Given the description of an element on the screen output the (x, y) to click on. 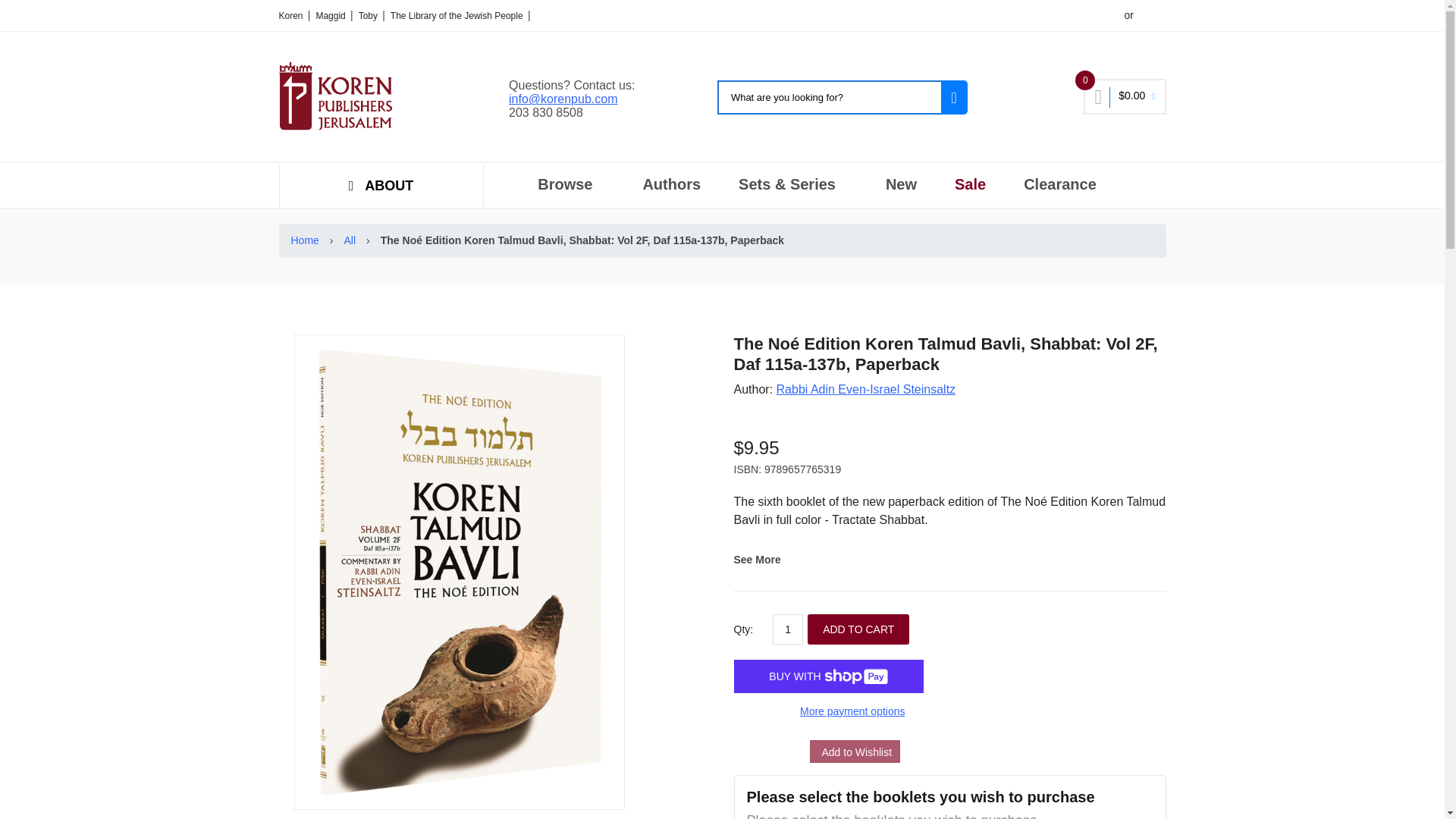
Add to Cart (858, 628)
Toby (369, 15)
Home (307, 240)
Contact us (958, 15)
Add to Wishlist (855, 751)
Wishlist (1018, 15)
Koren (292, 15)
Sign in (1152, 15)
1 (788, 629)
Create Account (1088, 15)
Gift Registry (889, 15)
The Library of the Jewish People (457, 15)
Maggid (331, 15)
